Given the description of an element on the screen output the (x, y) to click on. 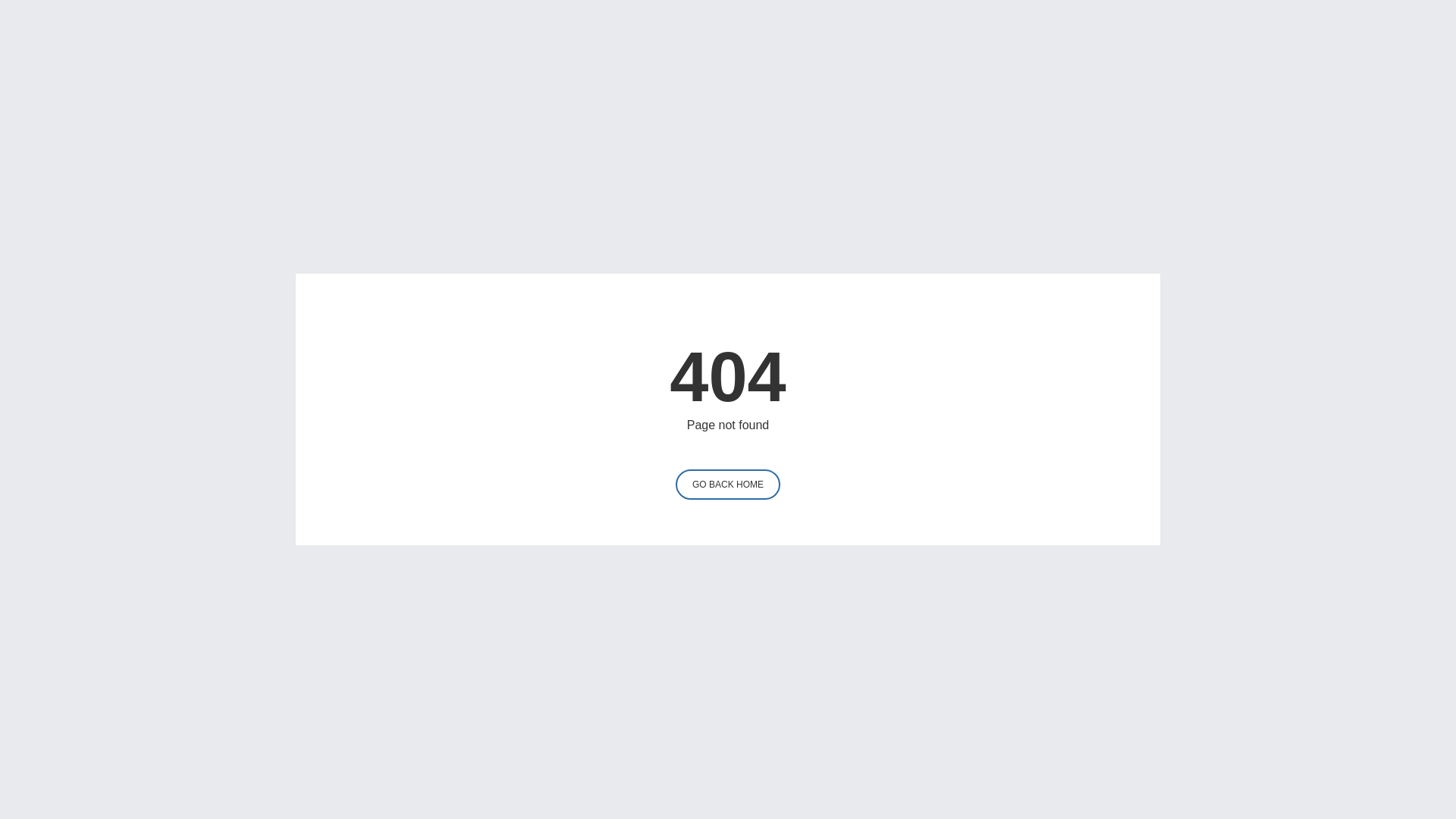
GO BACK HOME Element type: text (727, 484)
